Given the description of an element on the screen output the (x, y) to click on. 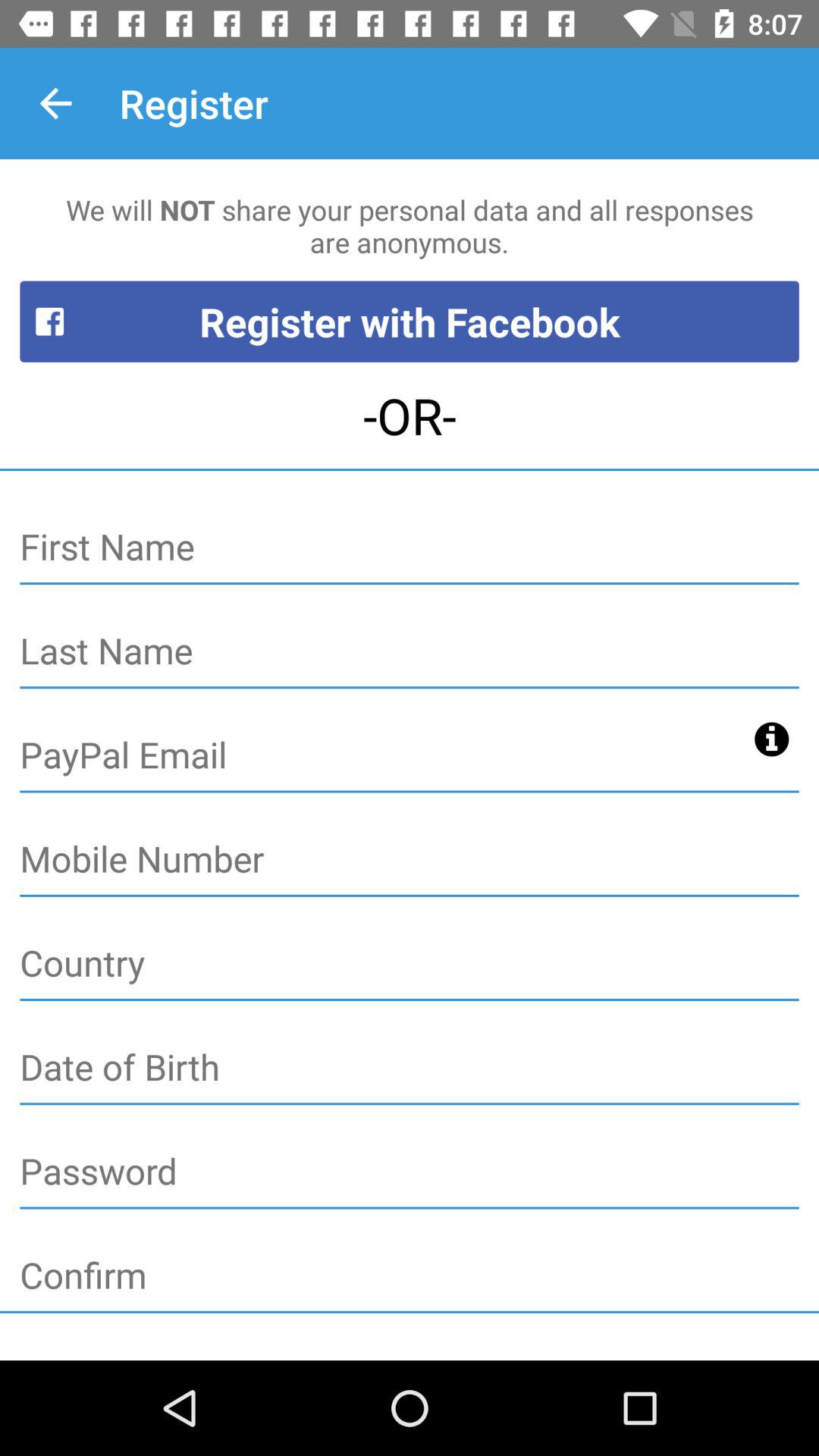
turn off icon above the we will not icon (55, 103)
